Given the description of an element on the screen output the (x, y) to click on. 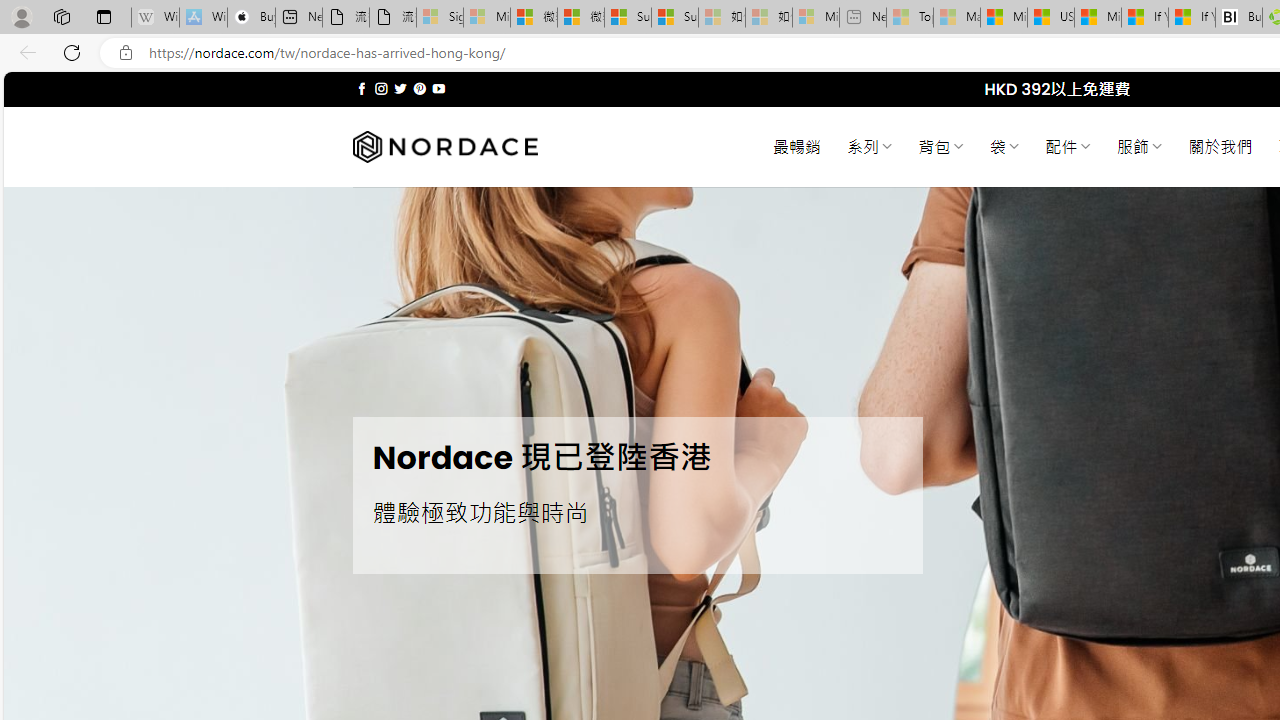
Buy iPad - Apple (251, 17)
Microsoft Services Agreement - Sleeping (486, 17)
Top Stories - MSN - Sleeping (910, 17)
Follow on Facebook (361, 88)
Marine life - MSN - Sleeping (957, 17)
